Given the description of an element on the screen output the (x, y) to click on. 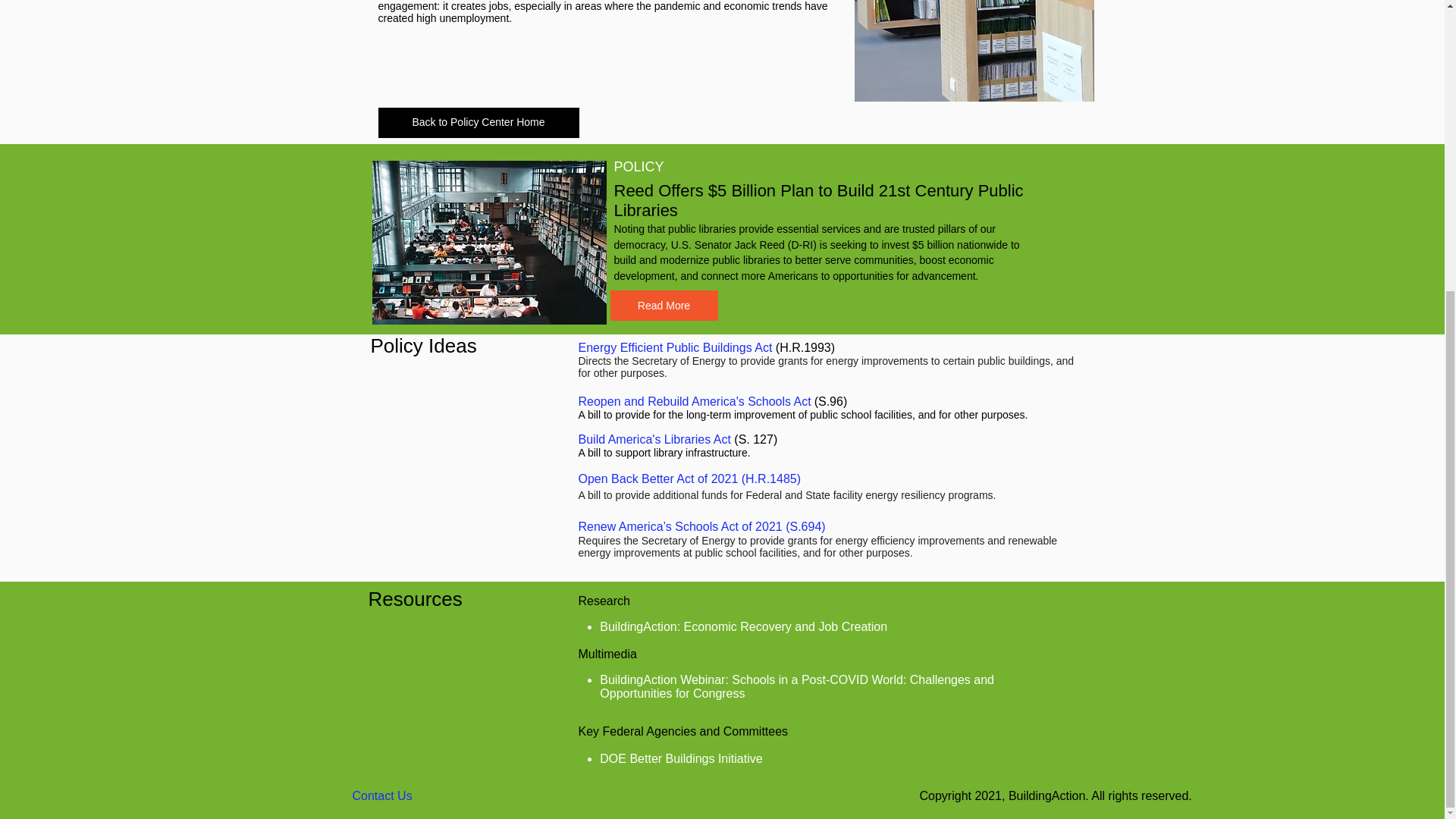
Back to Policy Center Home (477, 122)
DOE Better Buildings Initiative (680, 758)
Energy Efficient Public Buildings Act (676, 347)
Read More (663, 305)
BuildingAction: Economic Recovery and Job Creation (742, 626)
Contact Us (382, 795)
Open Back Better Act of 2021  (659, 478)
Build America's Libraries Act  (655, 439)
S.96 (830, 400)
